Given the description of an element on the screen output the (x, y) to click on. 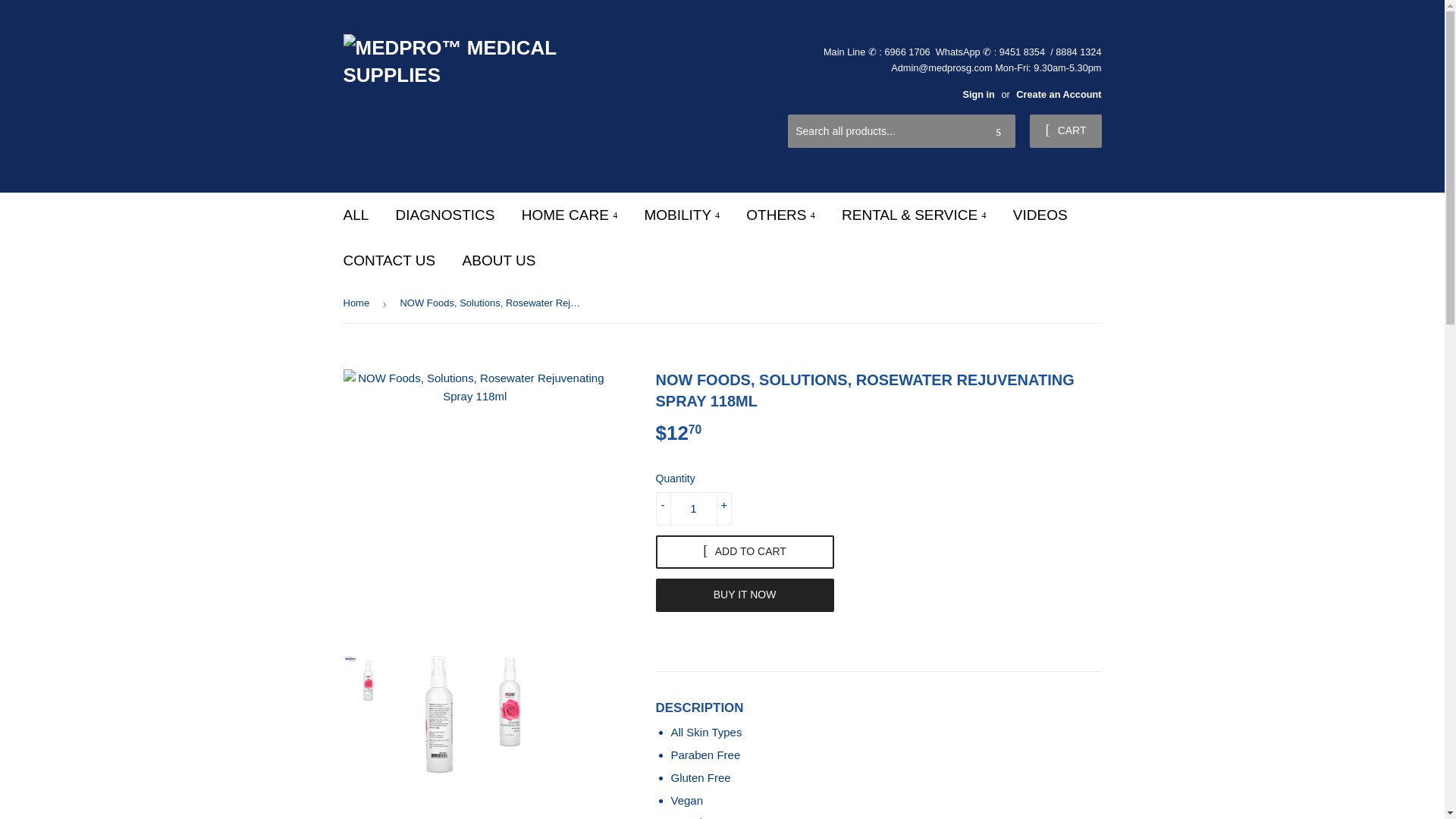
1 (692, 507)
CART (1064, 131)
Sign in (978, 93)
Search (997, 132)
Create an Account (1058, 93)
